Given the description of an element on the screen output the (x, y) to click on. 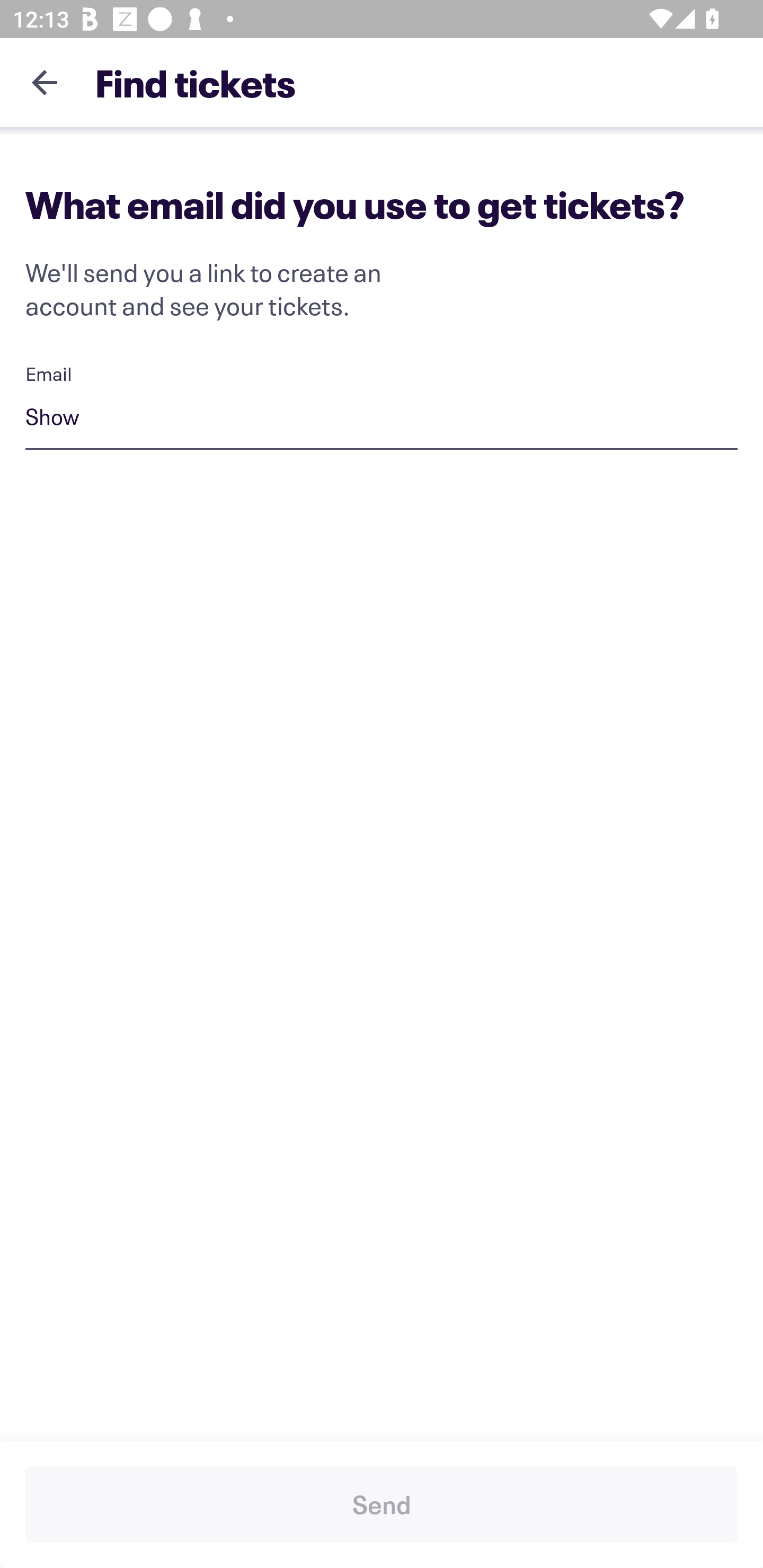
Navigate up (44, 82)
Show (381, 419)
Send (381, 1504)
